Given the description of an element on the screen output the (x, y) to click on. 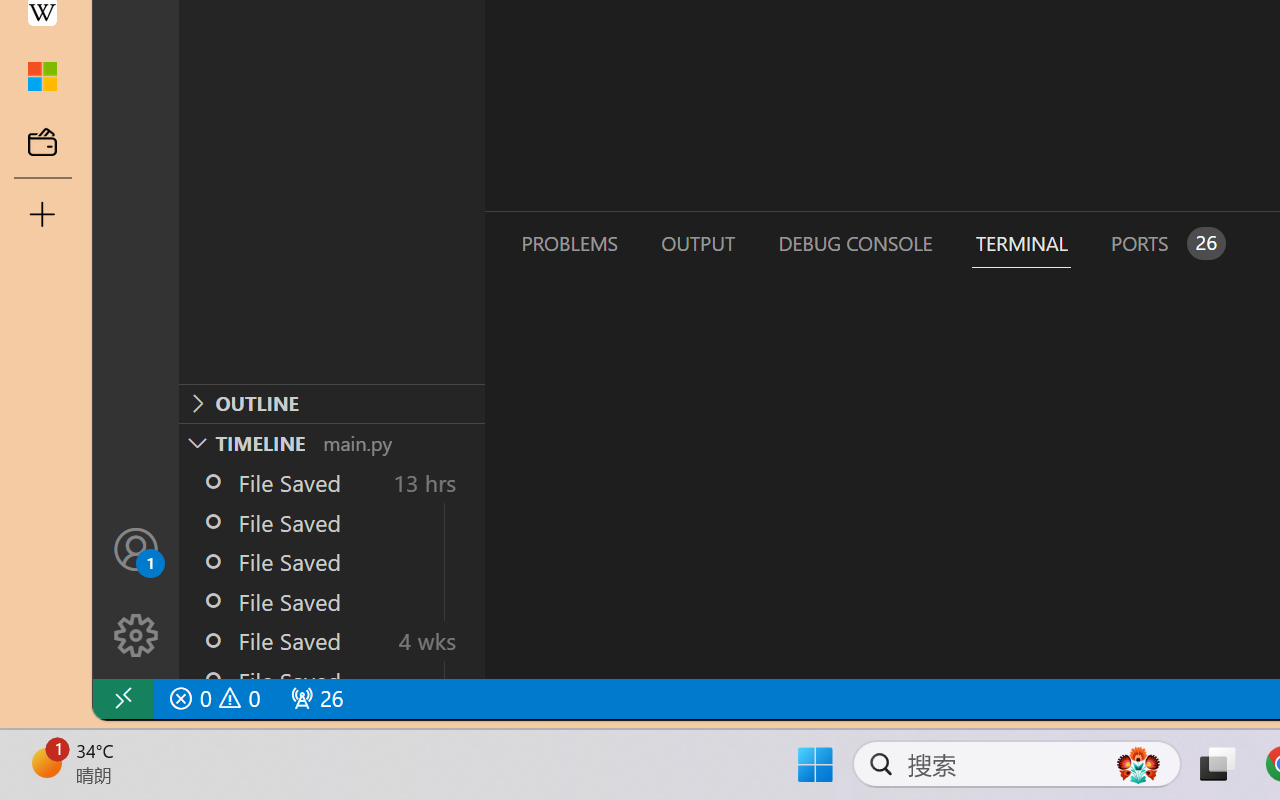
Terminal (Ctrl+`) (1021, 243)
Problems (Ctrl+Shift+M) (567, 243)
Accounts - Sign in requested (135, 548)
Output (Ctrl+Shift+U) (696, 243)
Ports - 26 forwarded ports (1165, 243)
Timeline Section (331, 442)
Debug Console (Ctrl+Shift+Y) (854, 243)
Manage (135, 635)
Outline Section (331, 403)
